Given the description of an element on the screen output the (x, y) to click on. 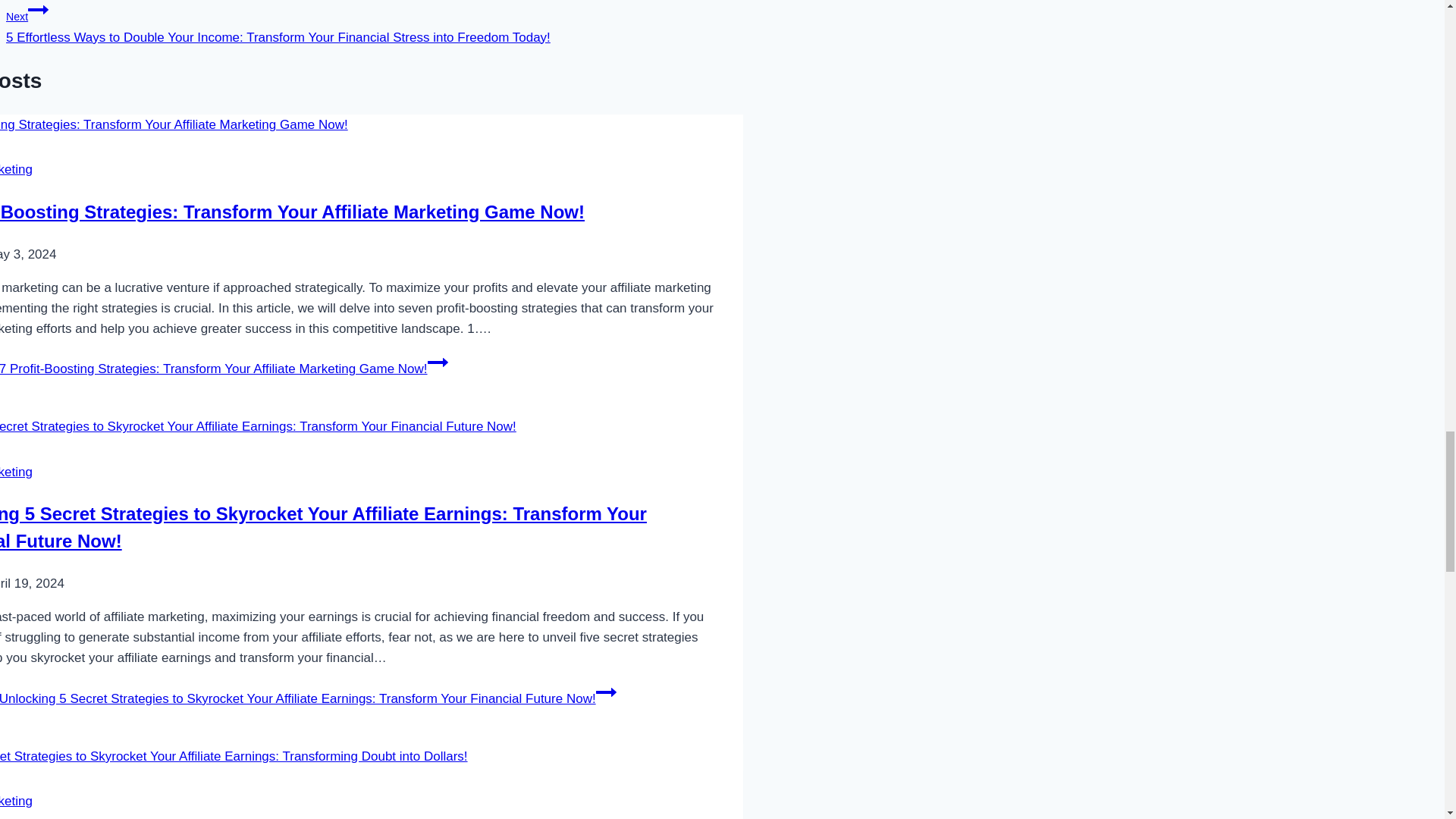
affiliate marketing (16, 800)
Continue (438, 362)
affiliate marketing (16, 169)
Continue (37, 10)
Continue (605, 691)
affiliate marketing (16, 472)
